Given the description of an element on the screen output the (x, y) to click on. 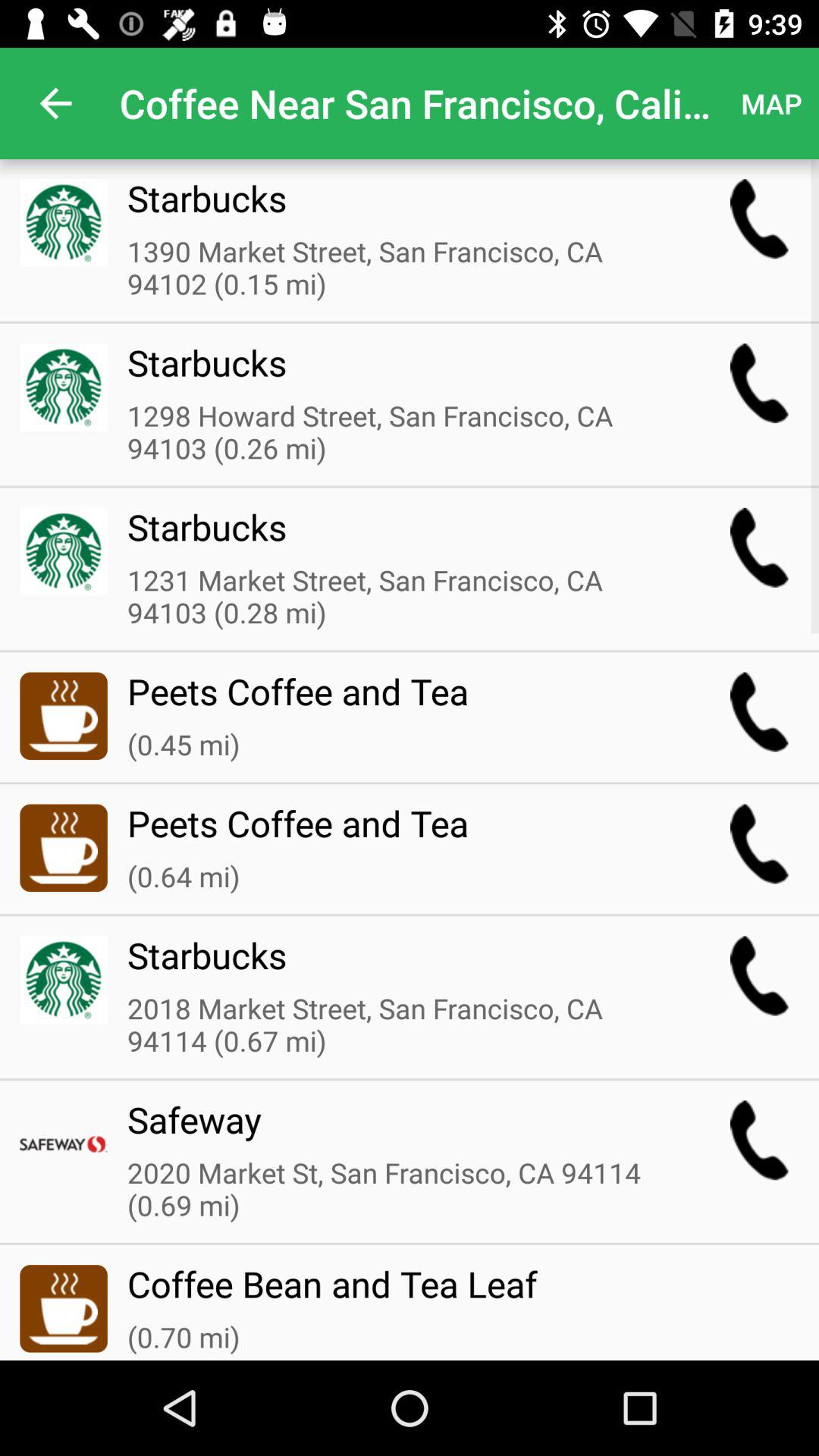
jump to the safeway icon (398, 1128)
